Given the description of an element on the screen output the (x, y) to click on. 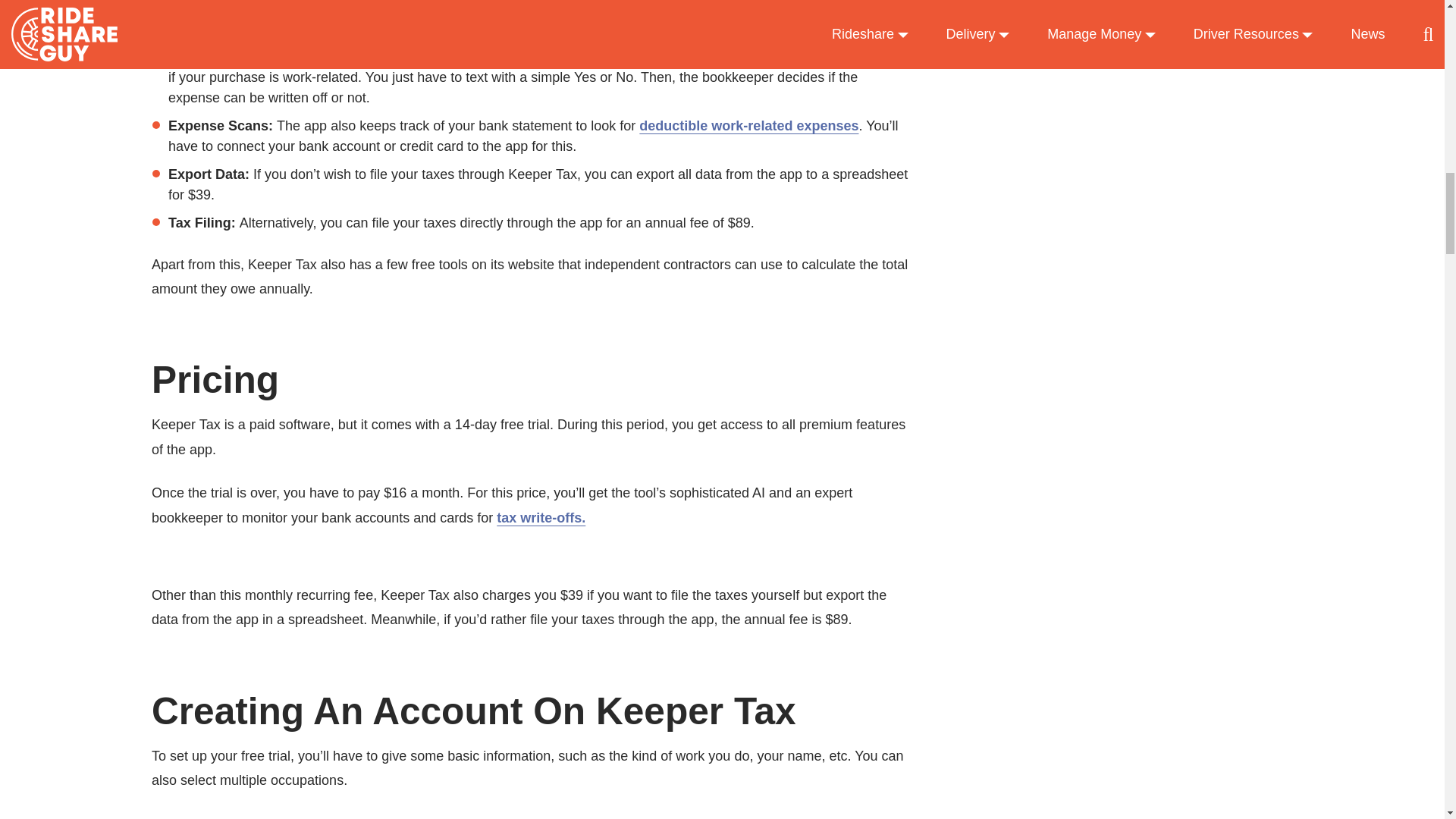
deductible work-related expenses (749, 125)
tax write-offs. (540, 517)
